Given the description of an element on the screen output the (x, y) to click on. 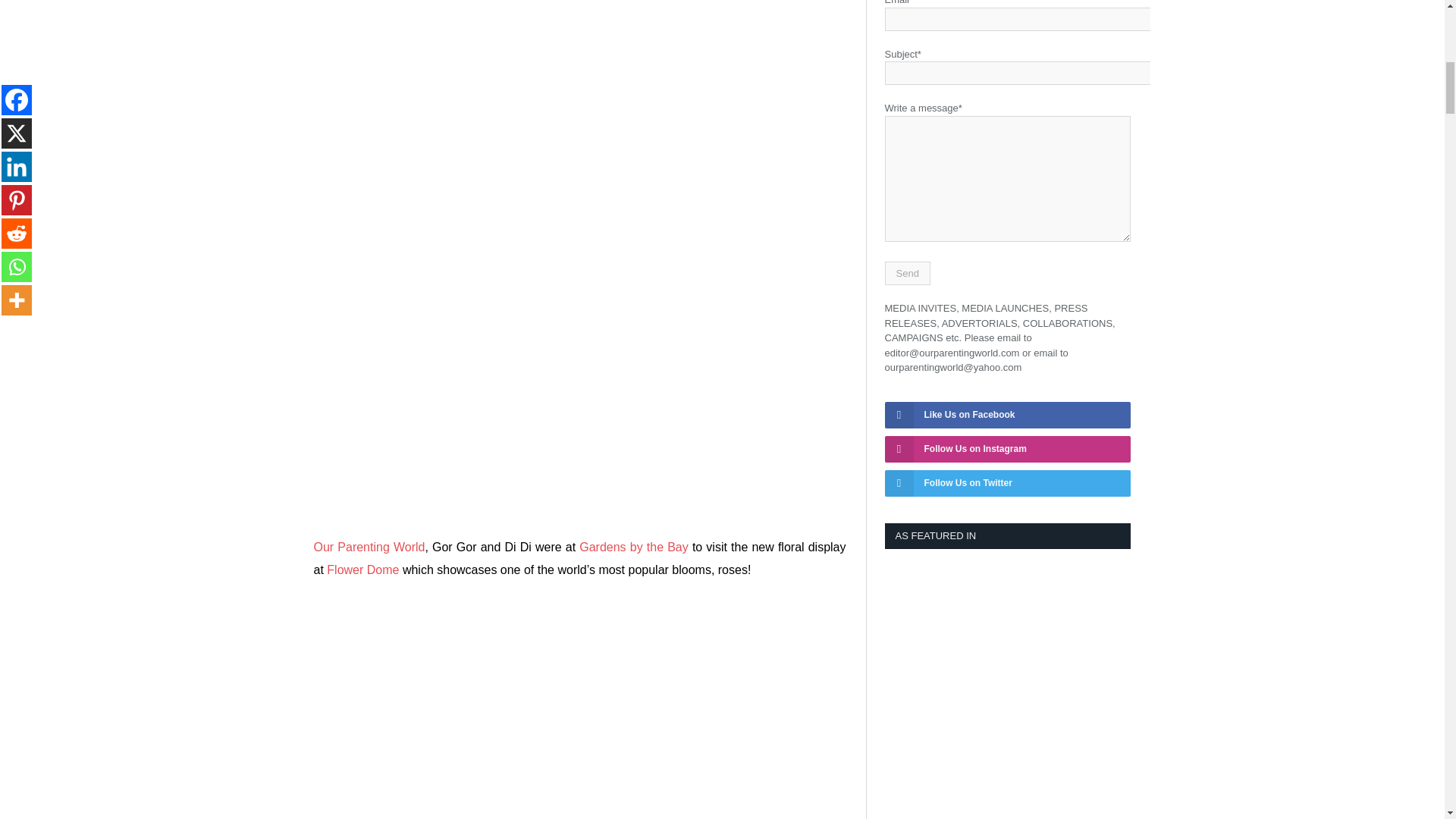
Send (906, 273)
